Given the description of an element on the screen output the (x, y) to click on. 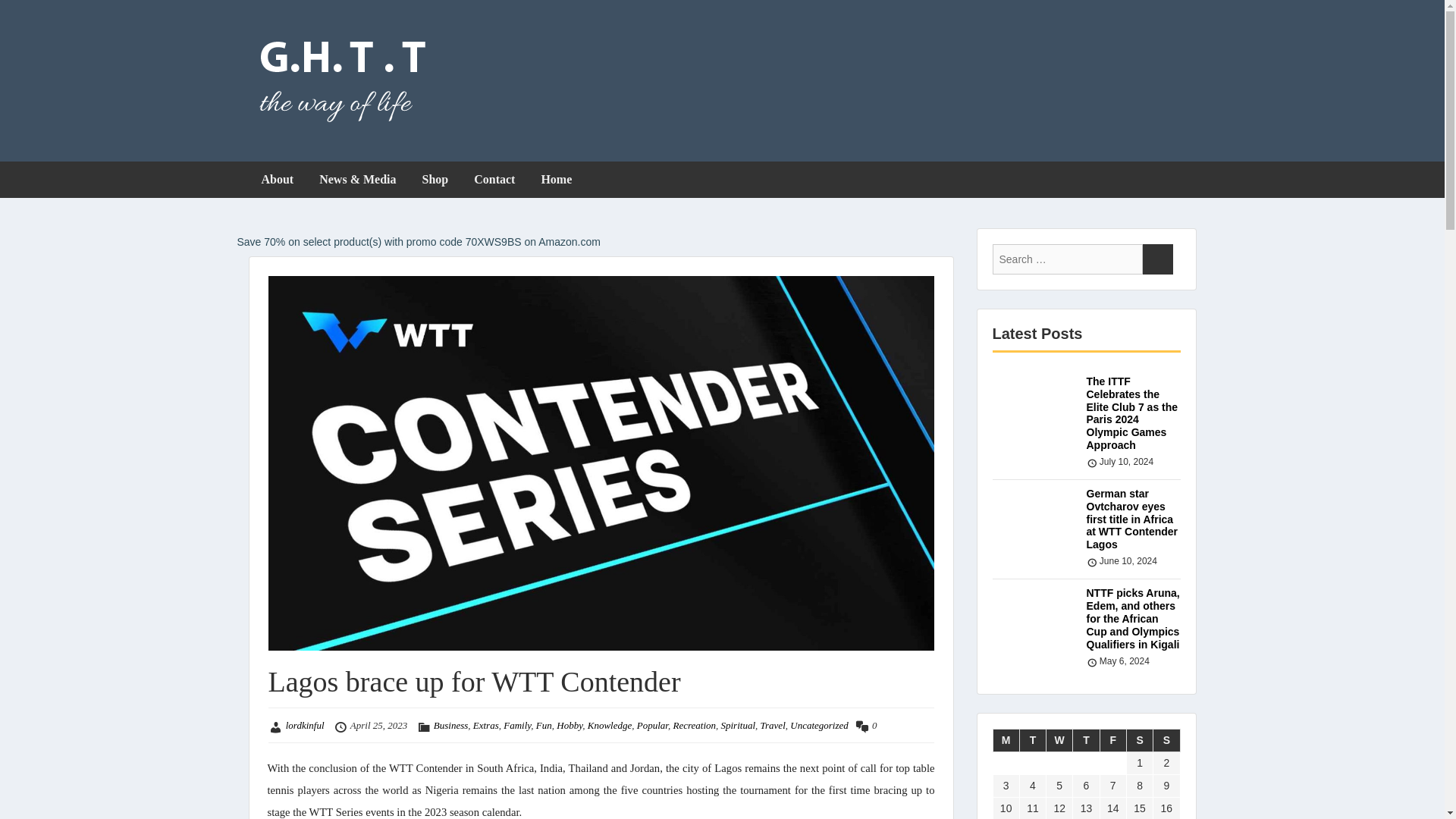
Shop (435, 179)
Wednesday (1059, 739)
Friday (1112, 739)
Saturday (1139, 739)
Search (1156, 259)
Thursday (1086, 739)
Uncategorized (819, 725)
Tuesday (1032, 739)
Sunday (1166, 739)
Spiritual (737, 725)
Hobby (569, 725)
Home (556, 179)
Search for: (1066, 259)
